Given the description of an element on the screen output the (x, y) to click on. 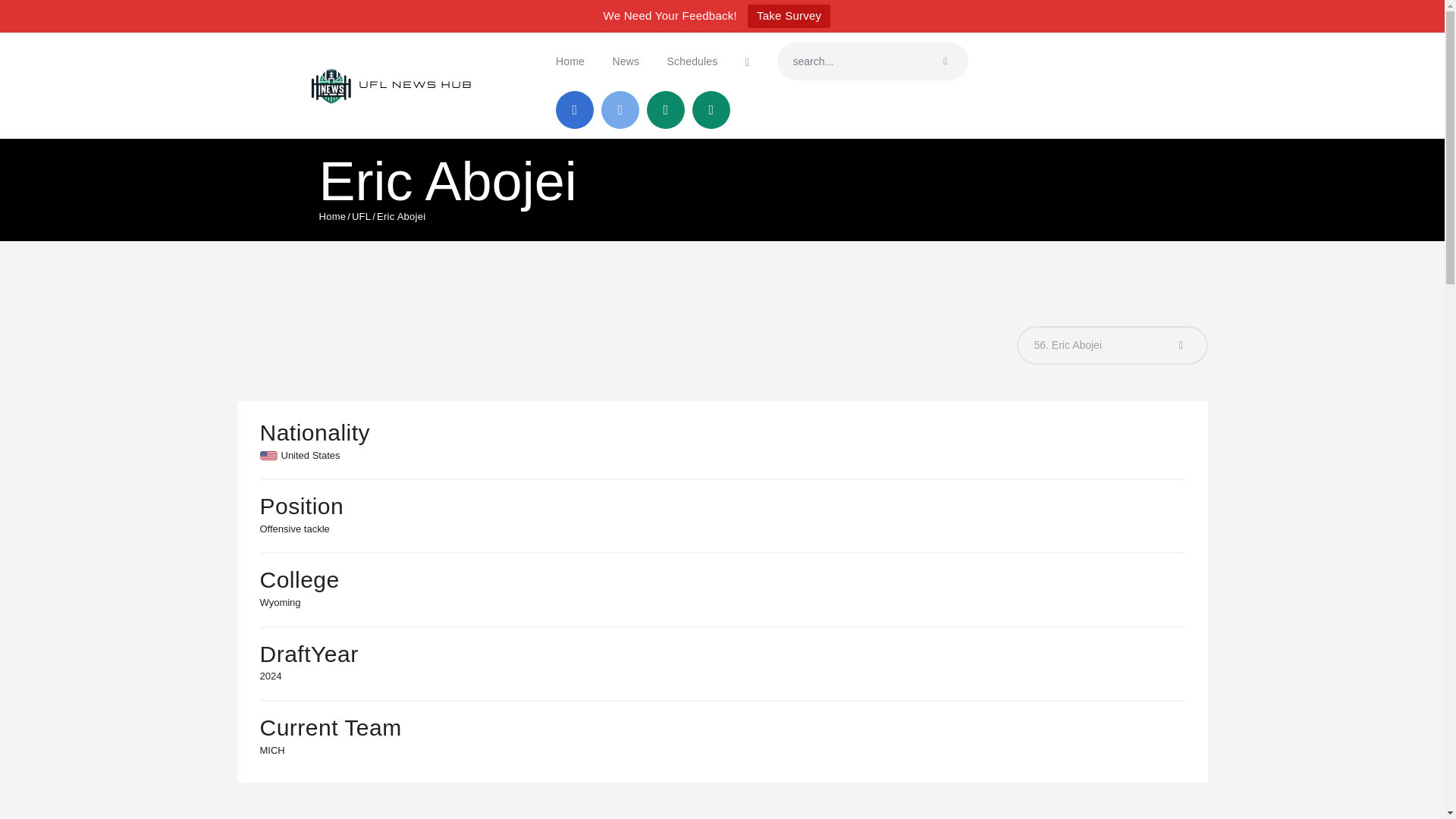
News (625, 61)
Take Survey (788, 15)
Home (569, 61)
Schedules (691, 61)
